Given the description of an element on the screen output the (x, y) to click on. 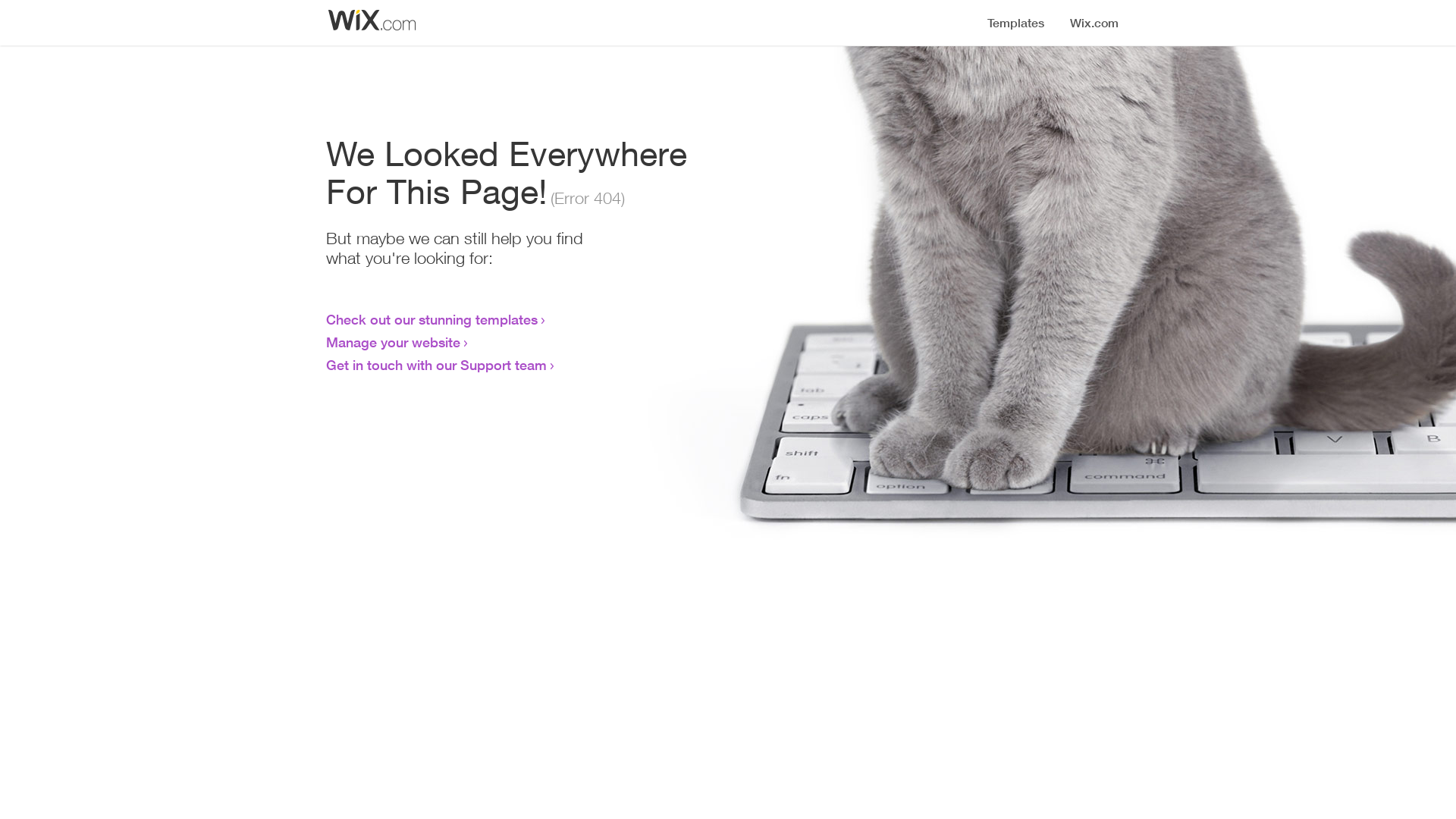
Get in touch with our Support team Element type: text (436, 364)
Manage your website Element type: text (393, 341)
Check out our stunning templates Element type: text (431, 318)
